Given the description of an element on the screen output the (x, y) to click on. 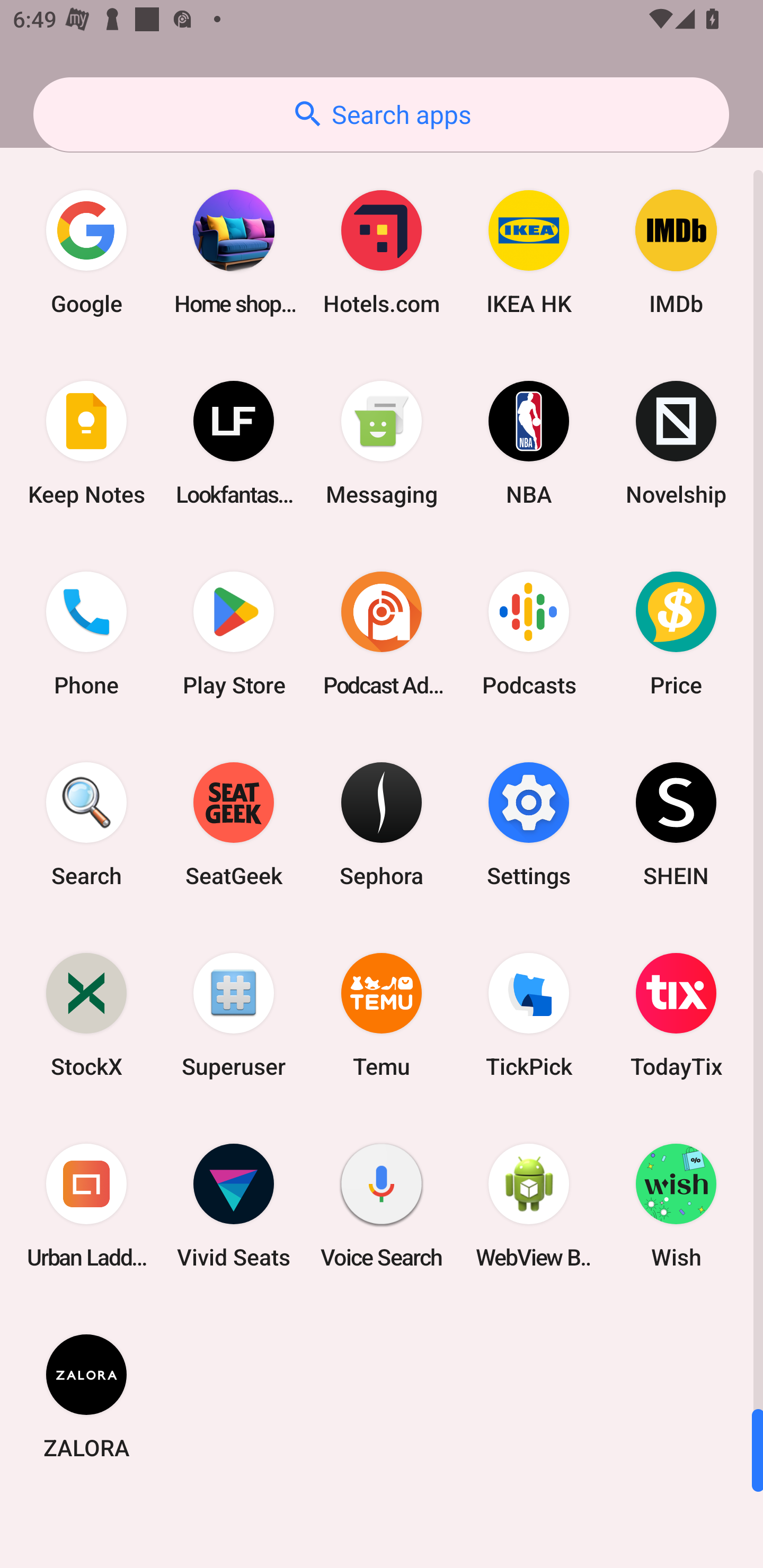
  Search apps (381, 114)
Google (86, 252)
Home shopping (233, 252)
Hotels.com (381, 252)
IKEA HK (528, 252)
IMDb (676, 252)
Keep Notes (86, 442)
Lookfantastic (233, 442)
Messaging (381, 442)
NBA (528, 442)
Novelship (676, 442)
Phone (86, 633)
Play Store (233, 633)
Podcast Addict (381, 633)
Podcasts (528, 633)
Price (676, 633)
Search (86, 823)
SeatGeek (233, 823)
Sephora (381, 823)
Settings (528, 823)
SHEIN (676, 823)
StockX (86, 1014)
Superuser (233, 1014)
Temu (381, 1014)
TickPick (528, 1014)
TodayTix (676, 1014)
Urban Ladder (86, 1205)
Vivid Seats (233, 1205)
Voice Search (381, 1205)
WebView Browser Tester (528, 1205)
Wish (676, 1205)
ZALORA (86, 1396)
